Given the description of an element on the screen output the (x, y) to click on. 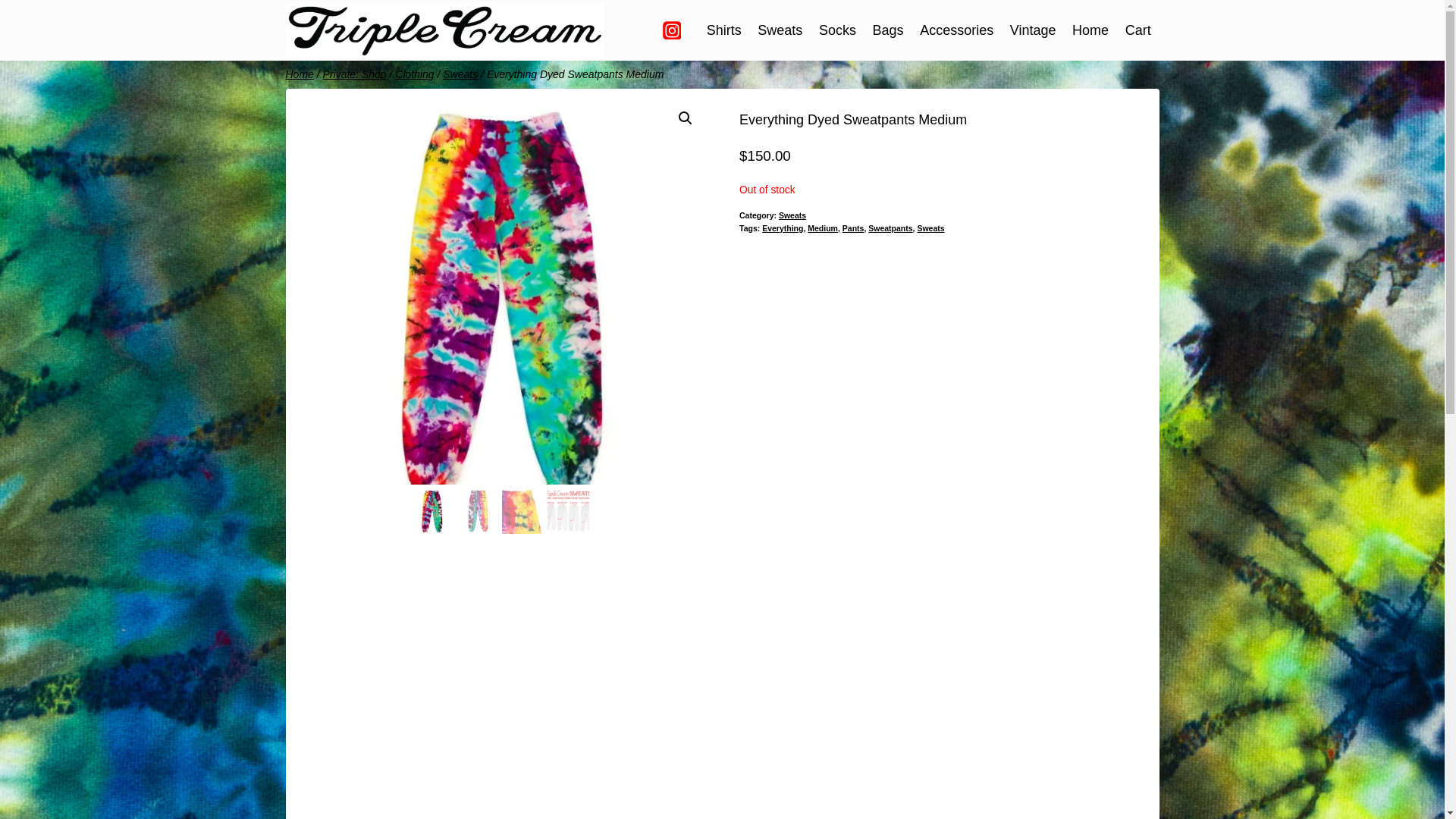
Private: Shop (355, 73)
Home (1090, 30)
Clothing (413, 73)
Sweats (459, 73)
Bags (888, 30)
Cart (1137, 30)
Home (299, 73)
Accessories (956, 30)
Socks (837, 30)
Sweats (792, 215)
Vintage (1032, 30)
Pants (853, 227)
Medium (823, 227)
Sweats (779, 30)
